Given the description of an element on the screen output the (x, y) to click on. 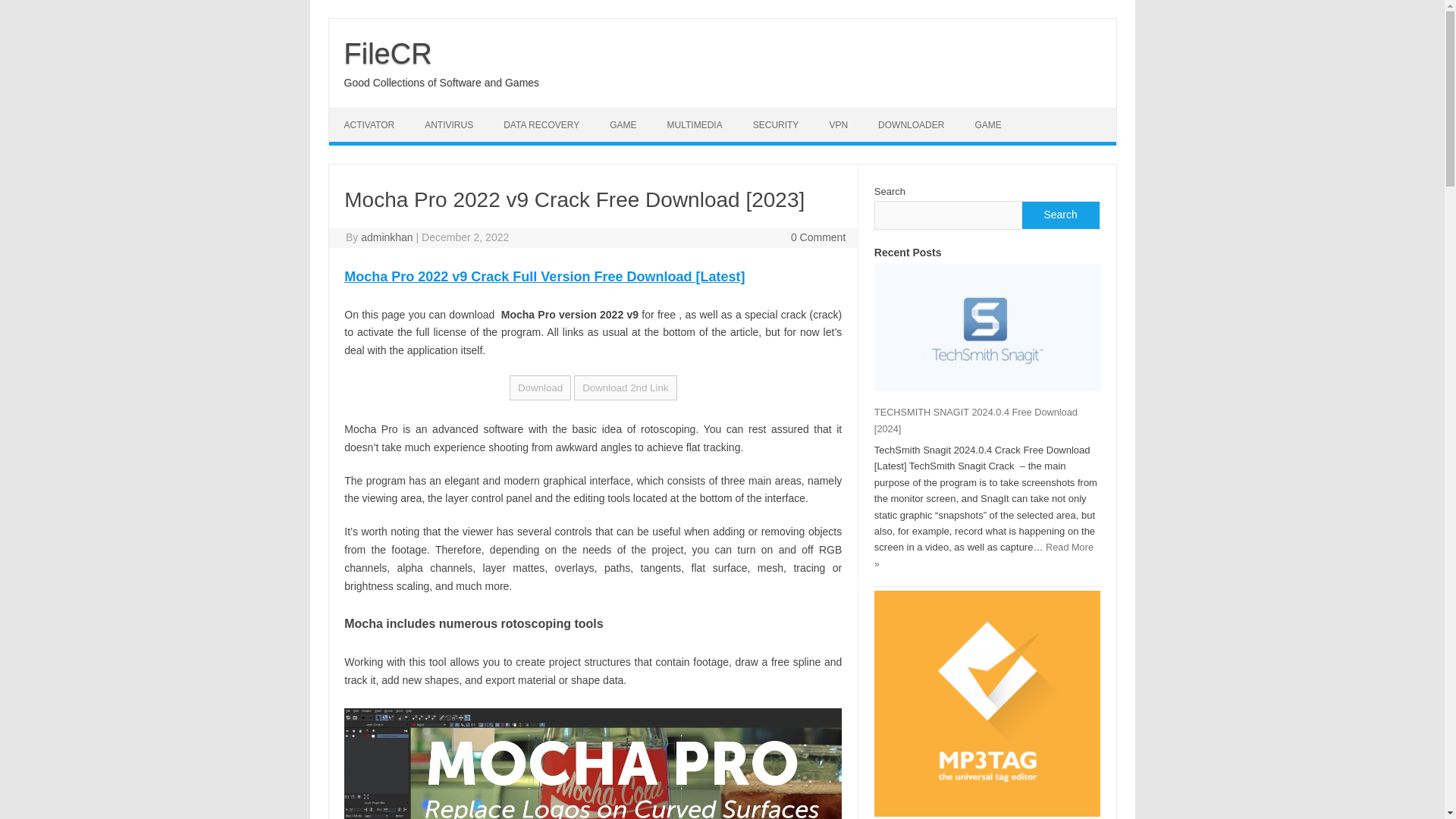
GAME (622, 124)
ANTIVIRUS (448, 124)
Search (1059, 215)
Posts by adminkhan (387, 236)
ACTIVATOR (369, 124)
adminkhan (387, 236)
Download (539, 387)
GAME (987, 124)
VPN (838, 124)
Permalink to: Mocha Pro 2022 v9 Crack Download (543, 276)
DOWNLOADER (911, 124)
Good Collections of Software and Games (441, 82)
SECURITY (775, 124)
DATA RECOVERY (540, 124)
